Given the description of an element on the screen output the (x, y) to click on. 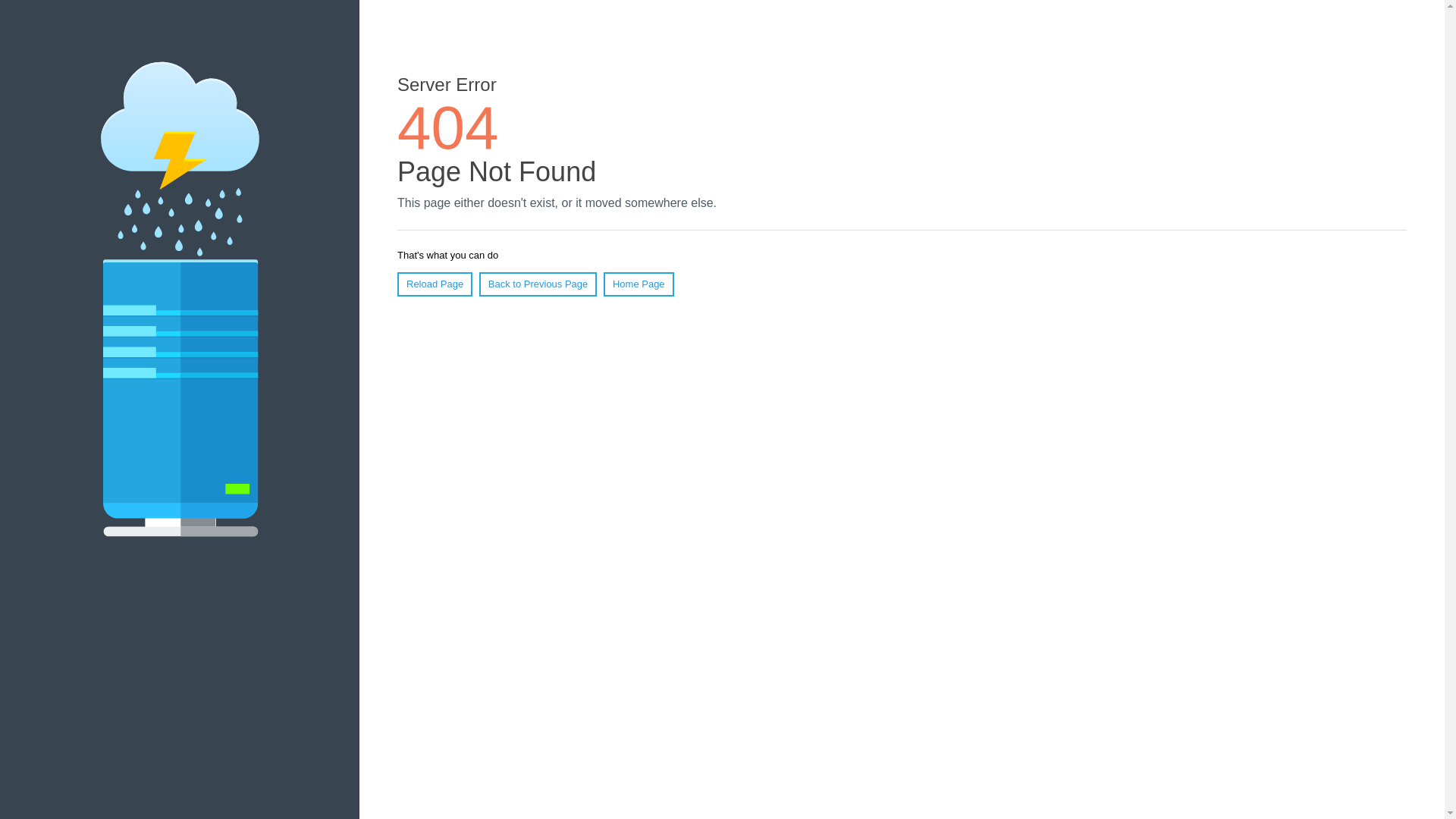
Home Page Element type: text (638, 284)
Reload Page Element type: text (434, 284)
Back to Previous Page Element type: text (538, 284)
